Given the description of an element on the screen output the (x, y) to click on. 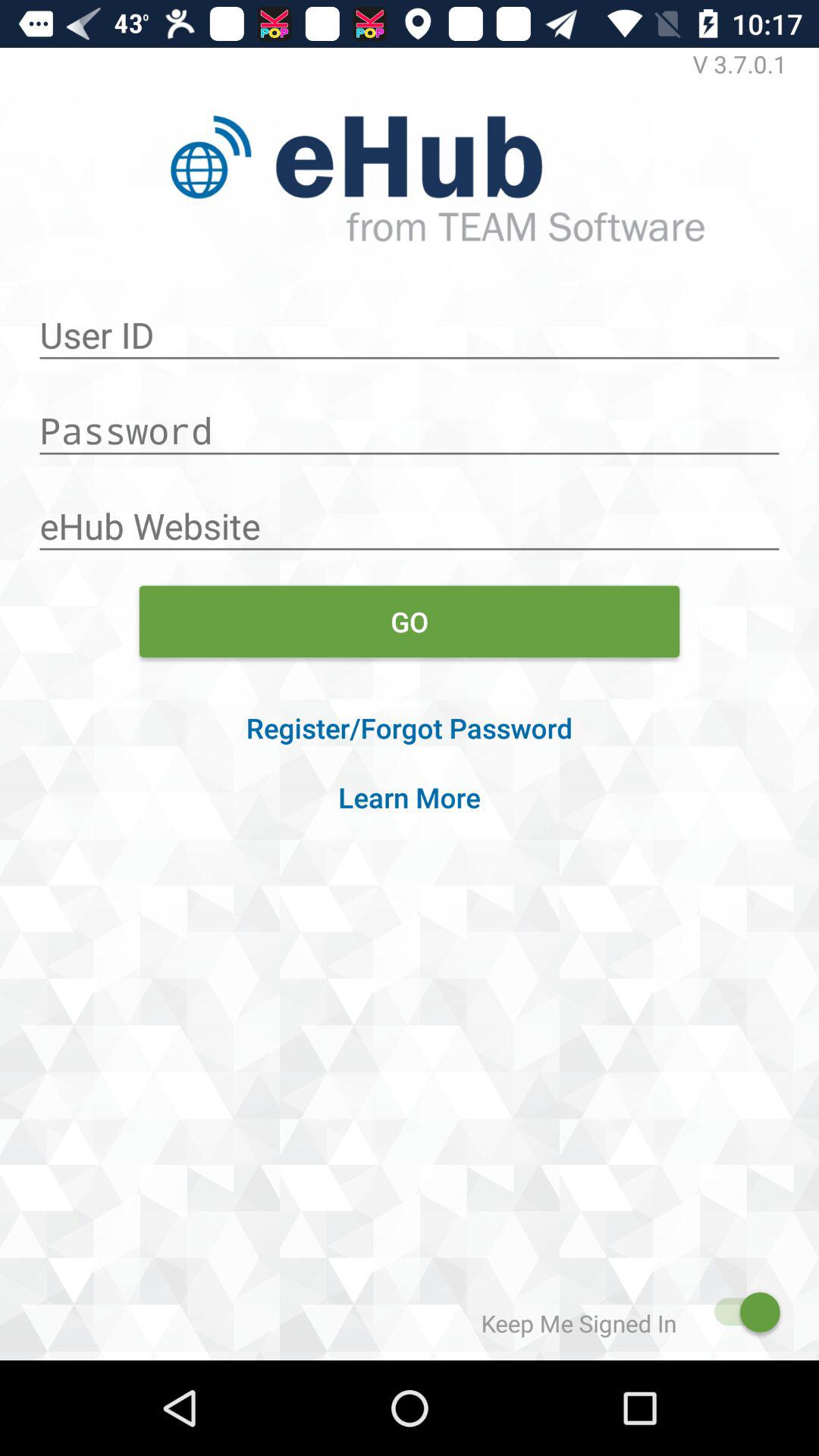
password text box (409, 422)
